Given the description of an element on the screen output the (x, y) to click on. 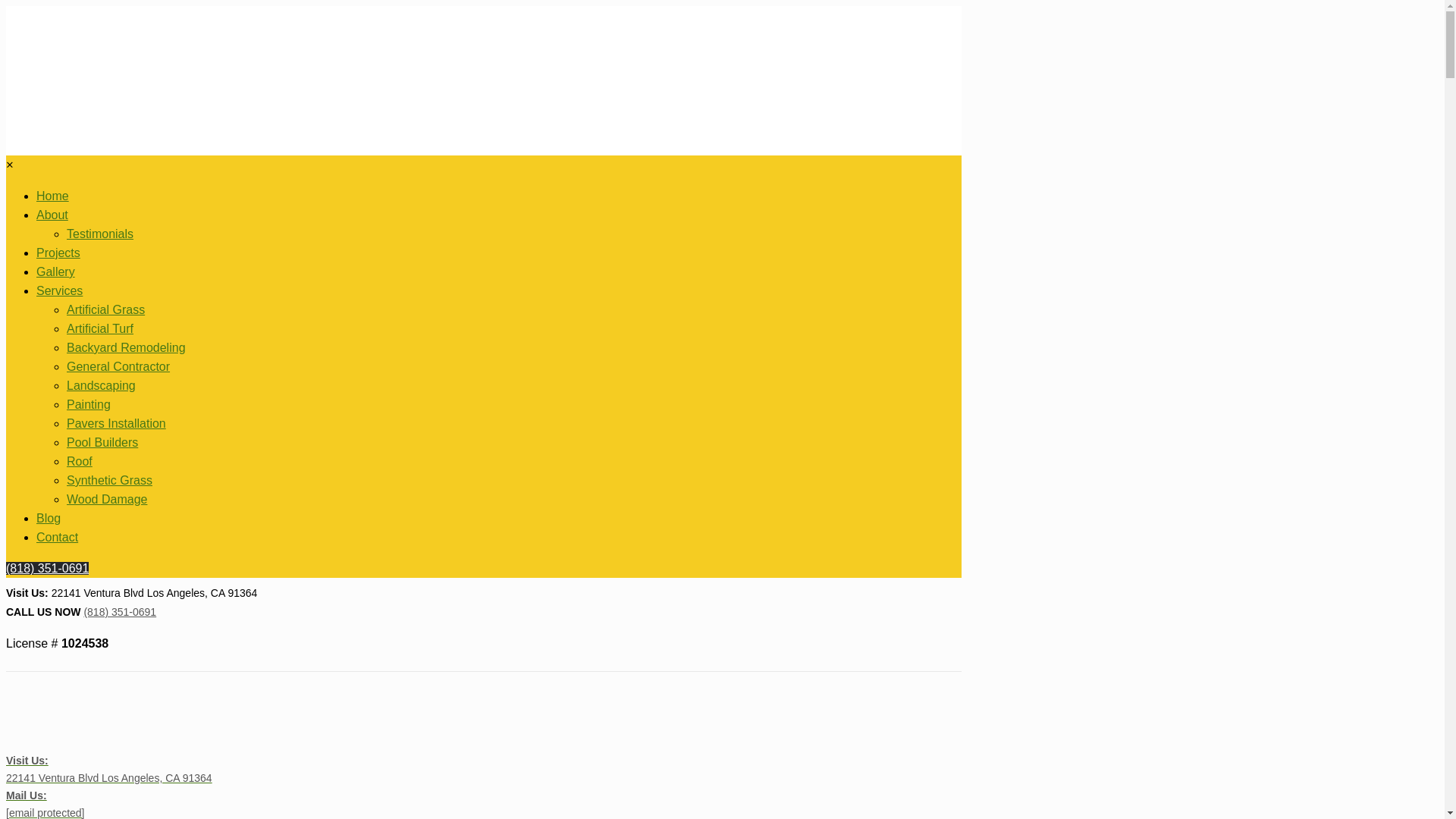
Artificial Turf (99, 328)
Backyard Remodeling (126, 347)
Blog (48, 517)
General Contractor (118, 366)
Painting (88, 404)
Services (59, 290)
Pavers Installation (115, 422)
Pool Builders (102, 441)
Projects (58, 252)
Wood Damage (106, 499)
Roof (79, 461)
Artificial Grass (105, 309)
Landscaping (100, 385)
Gallery (55, 271)
